Given the description of an element on the screen output the (x, y) to click on. 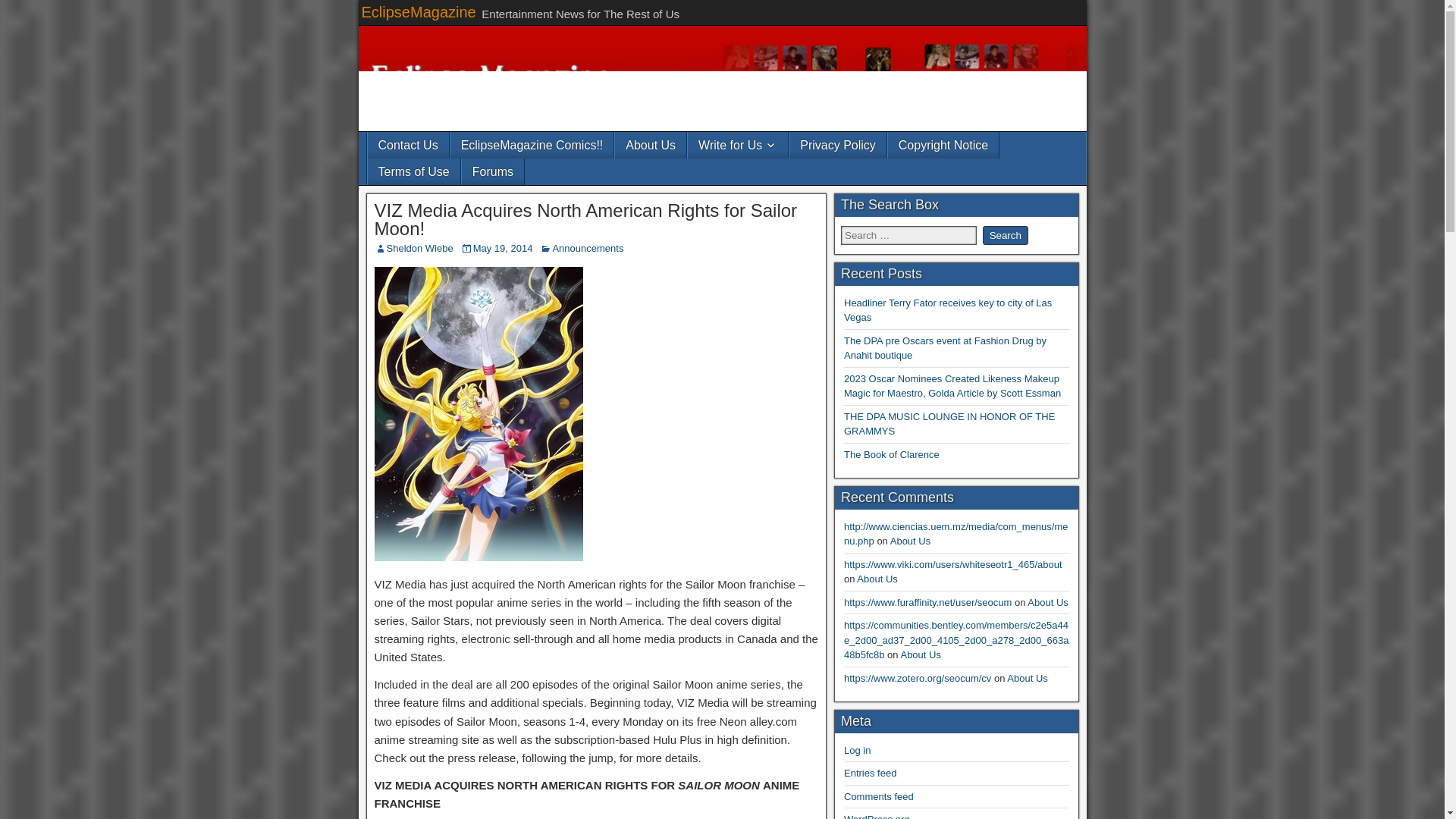
Contact Us (407, 144)
Headliner Terry Fator receives key to city of Las Vegas (947, 310)
THE DPA MUSIC LOUNGE IN HONOR OF THE GRAMMYS (949, 424)
May 19, 2014 (502, 247)
Copyright Notice (943, 144)
Sheldon Wiebe (419, 247)
Terms of Use (413, 171)
Search (1004, 235)
Search (1004, 235)
EclipseMagazine Comics!! (531, 144)
Forums (492, 171)
About Us (649, 144)
Search (1004, 235)
Announcements (587, 247)
